Given the description of an element on the screen output the (x, y) to click on. 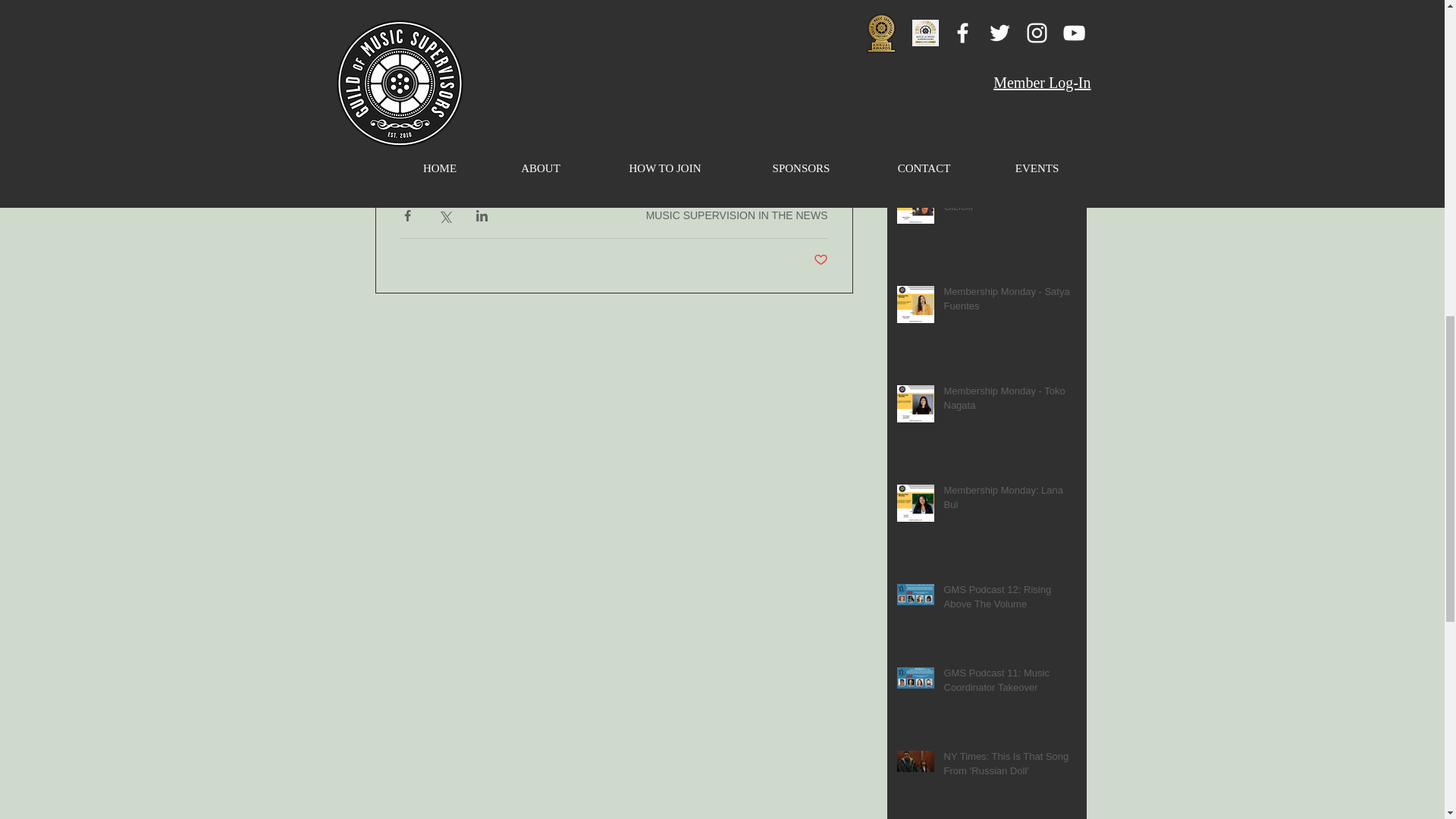
MUSIC SUPERVISION IN THE NEWS (737, 215)
Membership Monday - Steven Gizicki (1010, 202)
Post not marked as liked (819, 260)
